Given the description of an element on the screen output the (x, y) to click on. 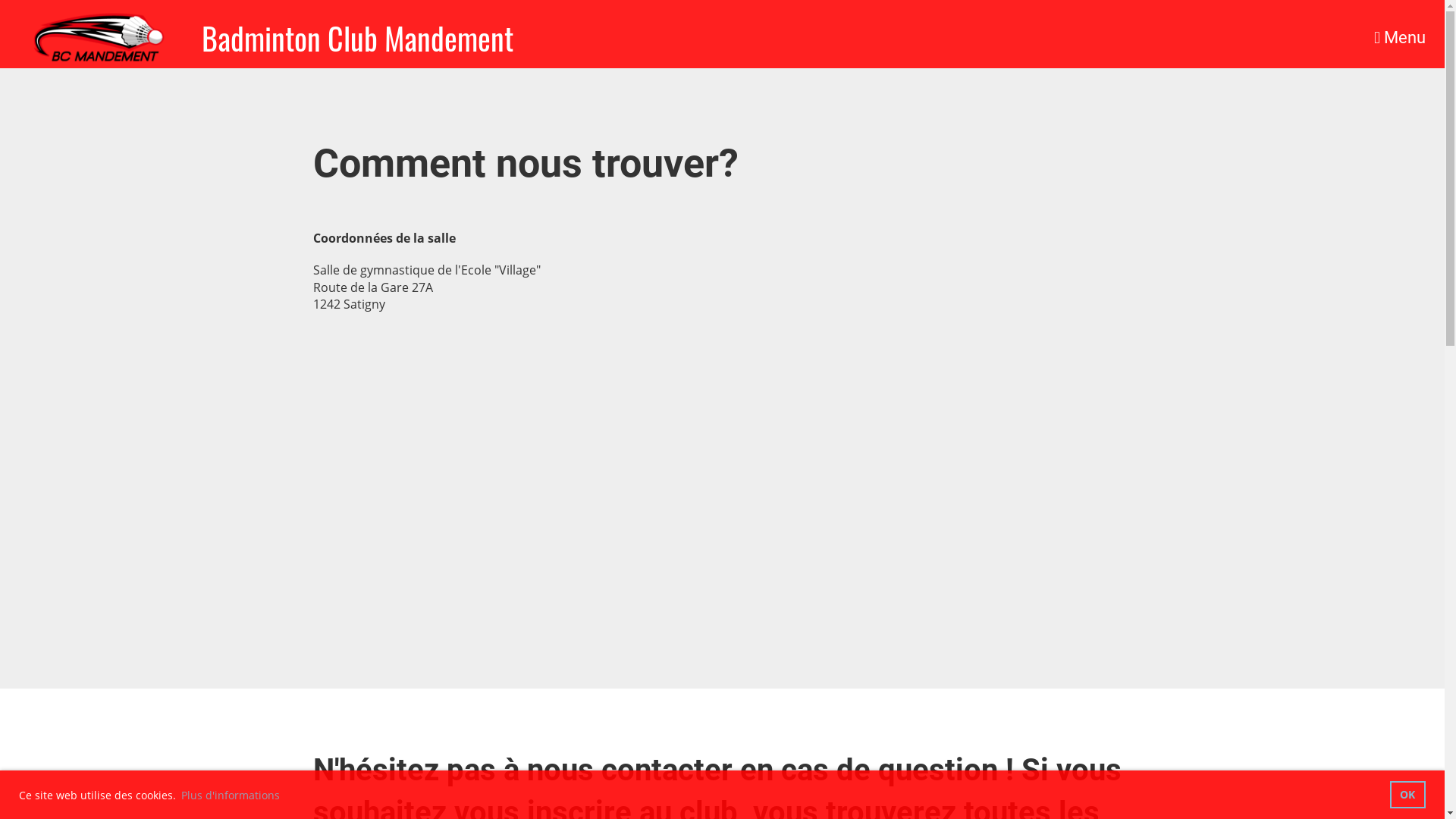
OK Element type: text (1407, 794)
Badminton Club Mandement Element type: text (357, 37)
Menu Element type: text (1399, 38)
Plus d'informations Element type: text (230, 794)
